Given the description of an element on the screen output the (x, y) to click on. 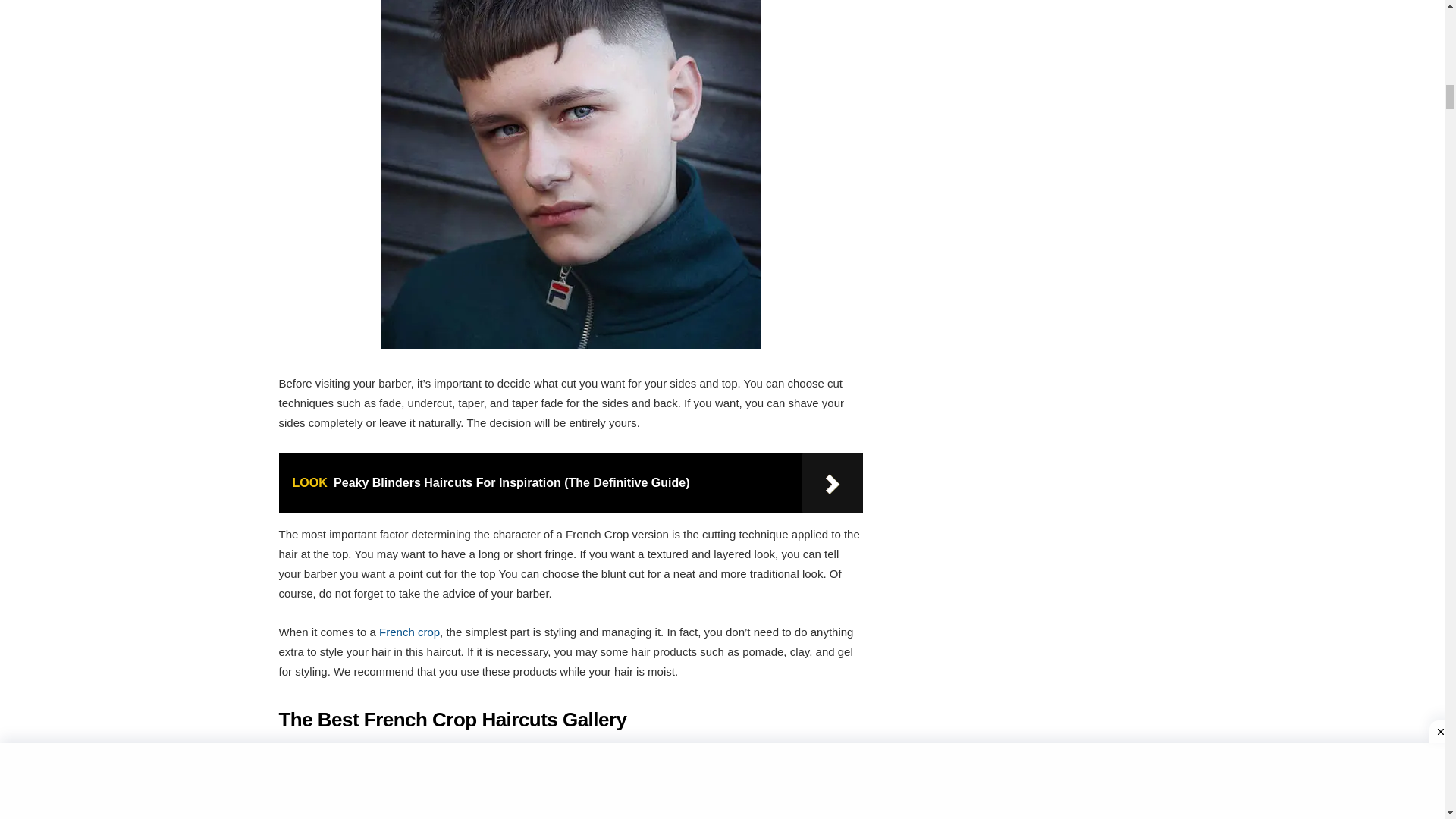
French crop (408, 631)
